Given the description of an element on the screen output the (x, y) to click on. 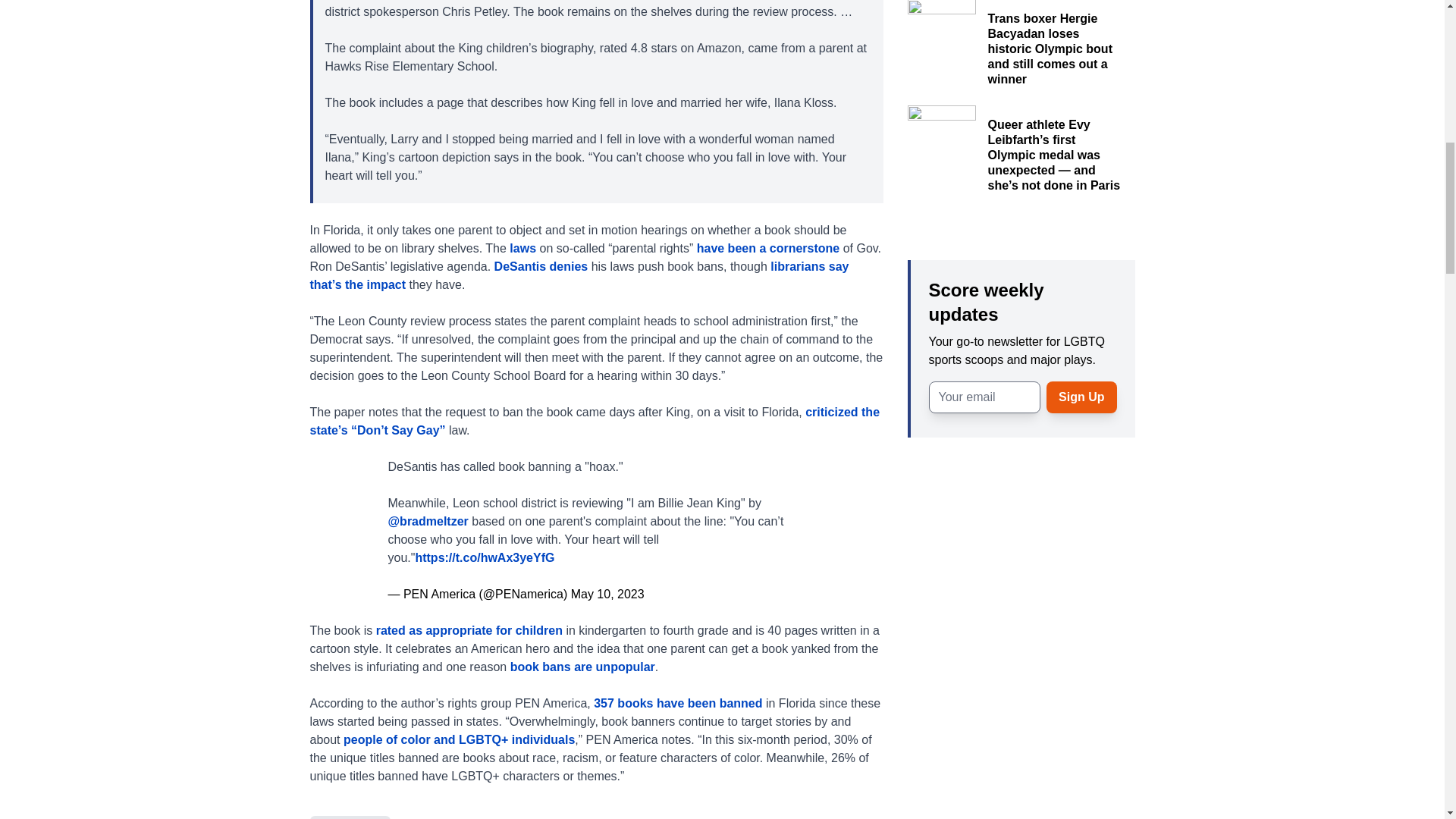
book bans are unpopular (583, 666)
Homophobia (349, 817)
357 books have been banned (677, 702)
rated as appropriate for children (468, 629)
DeSantis denies (543, 265)
have been a cornerstone (770, 246)
May 10, 2023 (607, 593)
laws (522, 246)
